Given the description of an element on the screen output the (x, y) to click on. 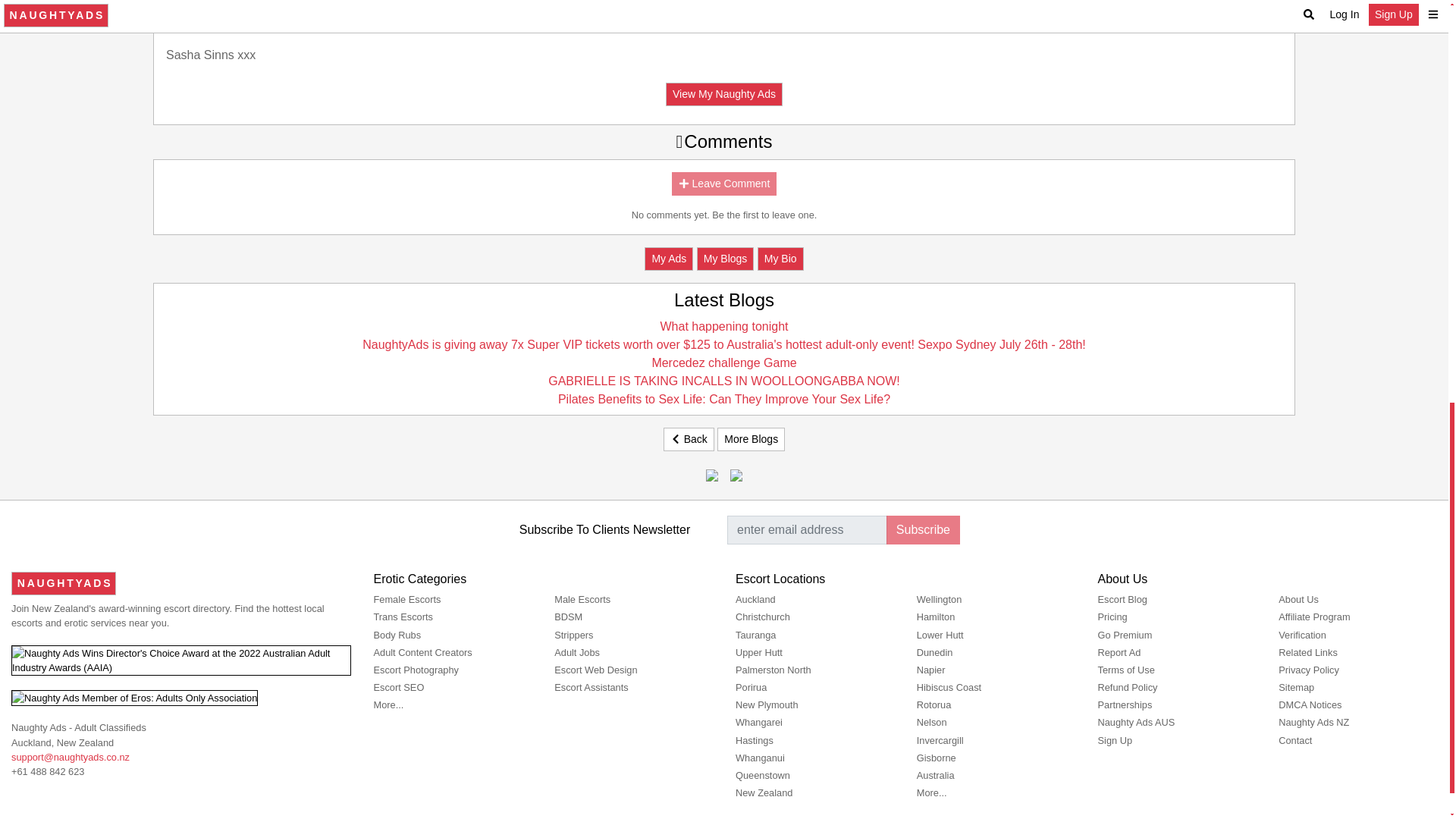
Leave Comment (724, 183)
Naughty Ads - Escorts Directory (63, 583)
My Ads (669, 259)
View My Naughty Ads (724, 94)
